Given the description of an element on the screen output the (x, y) to click on. 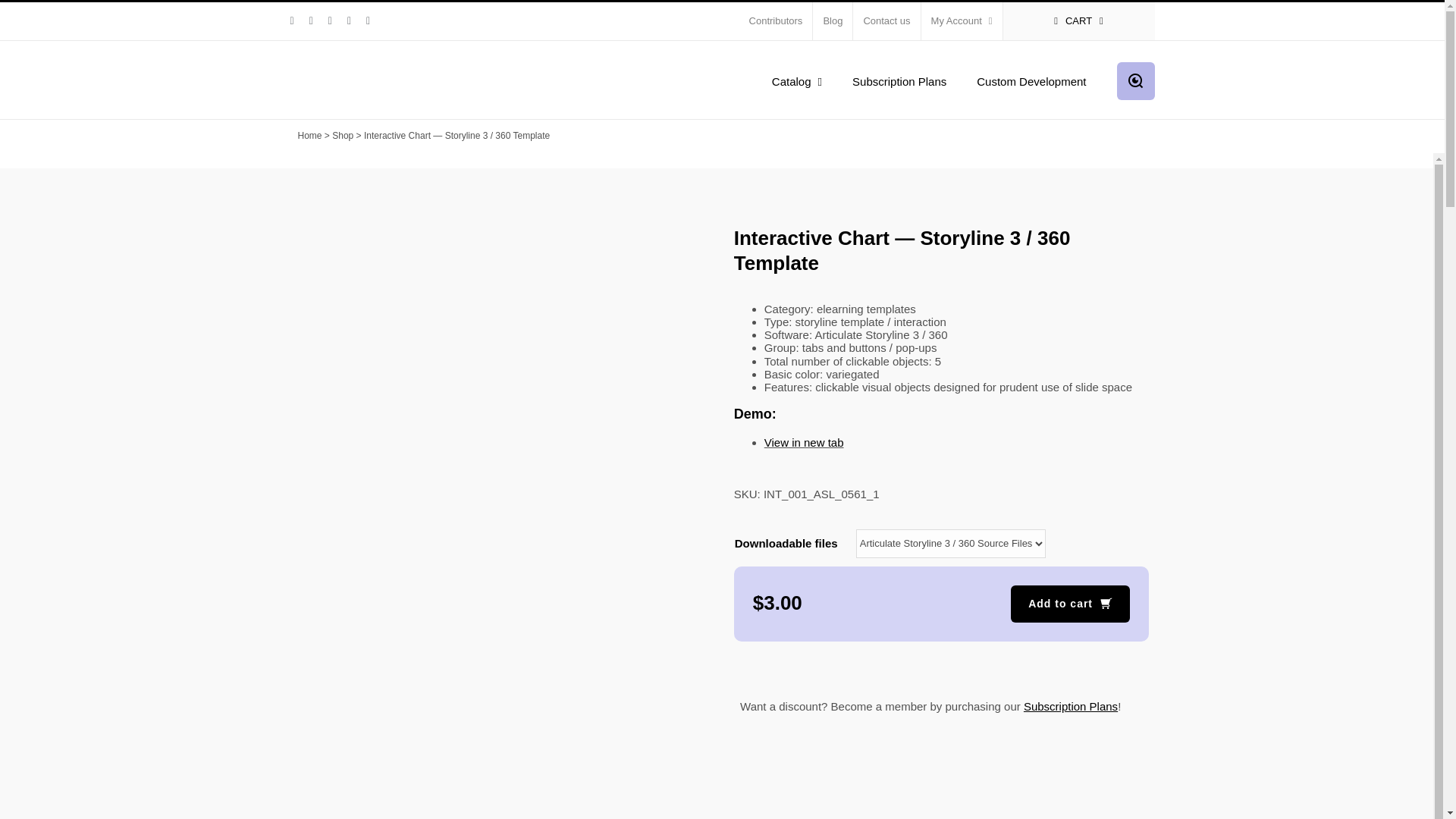
My Account (962, 21)
Blog (831, 21)
Custom Development (1031, 79)
Search (1135, 80)
Contributors (775, 21)
Log In (1025, 165)
CART (1078, 21)
Contact us (886, 21)
Subscription Plans (898, 79)
